Given the description of an element on the screen output the (x, y) to click on. 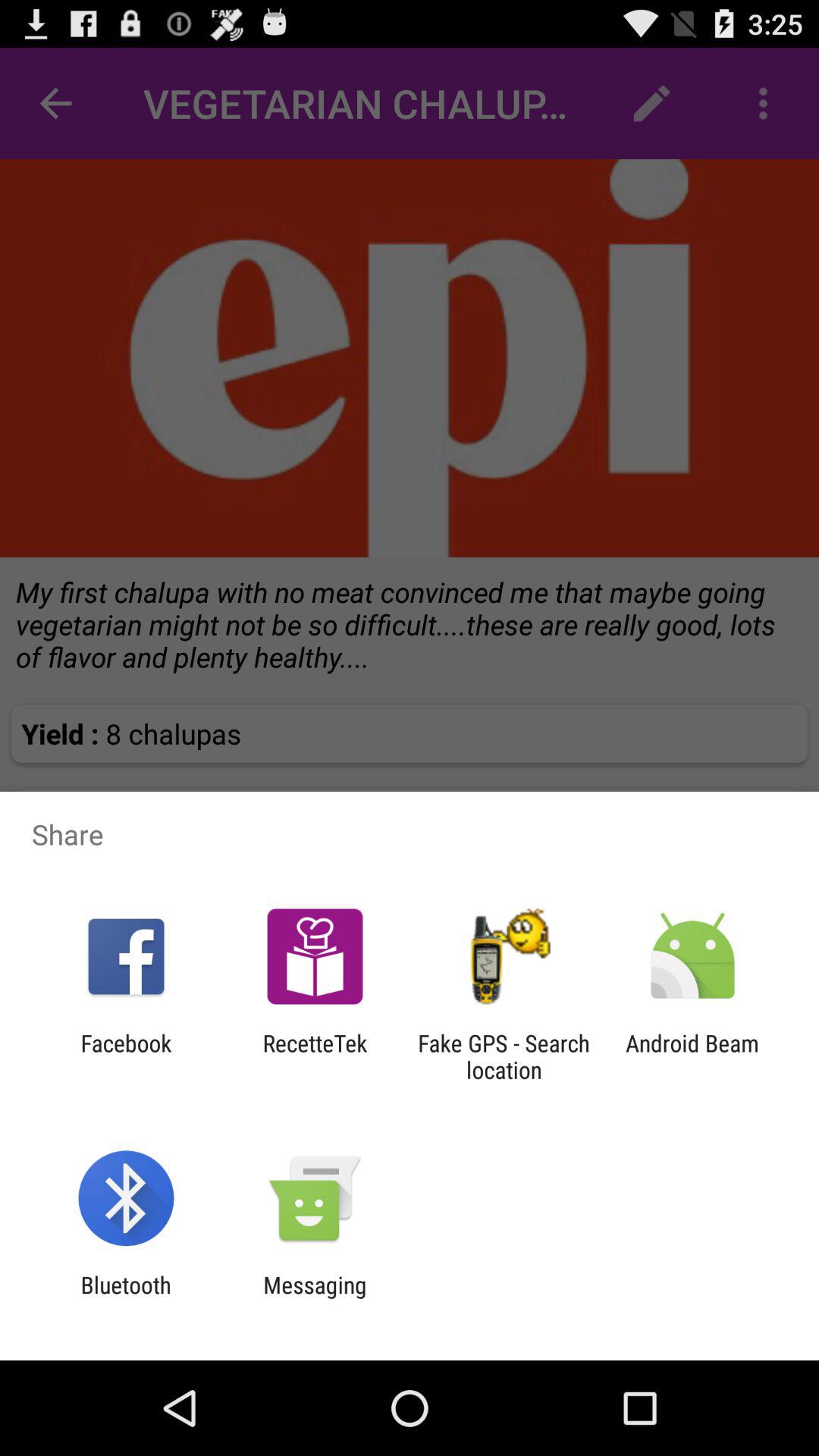
turn off the item to the right of the recettetek item (503, 1056)
